Given the description of an element on the screen output the (x, y) to click on. 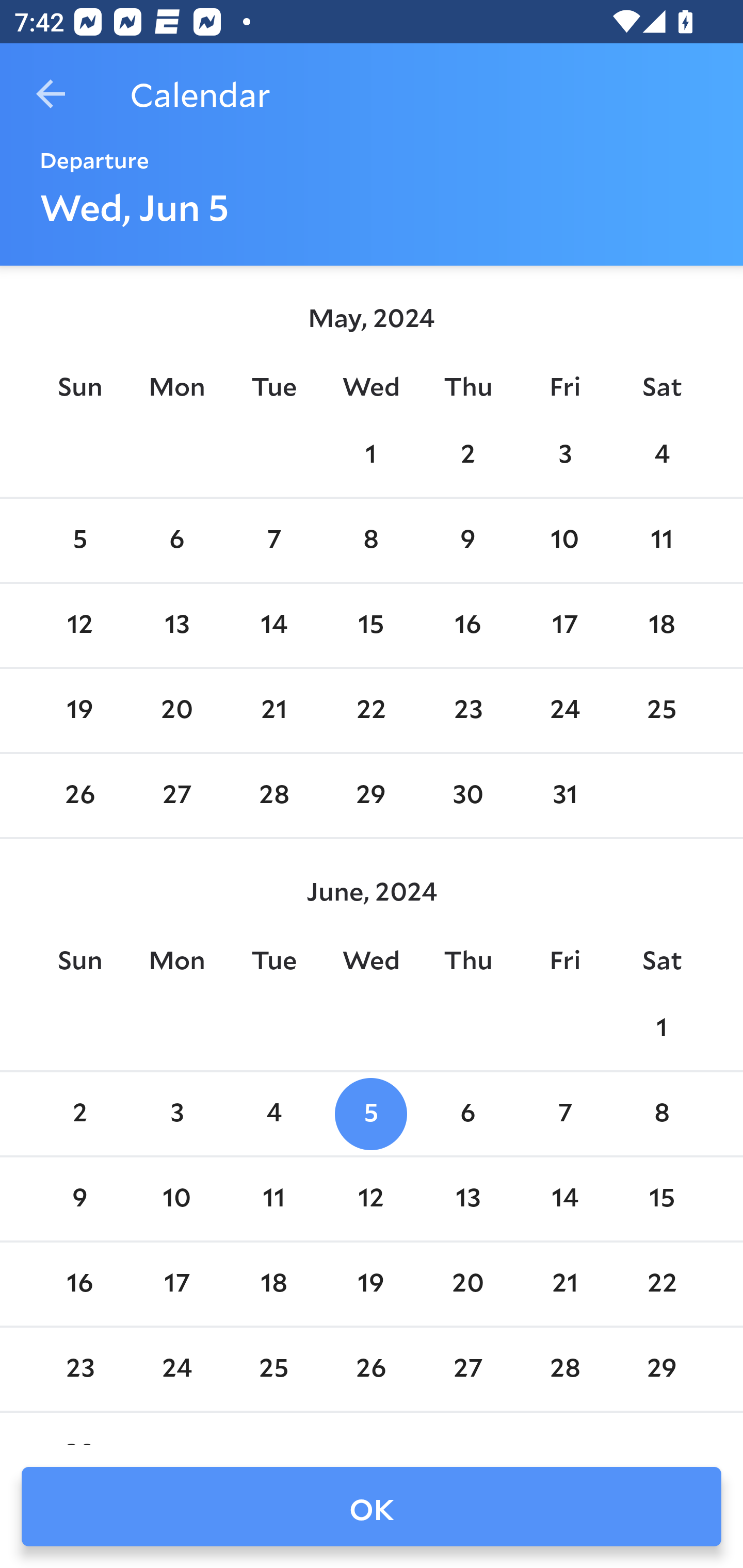
Navigate up (50, 93)
1 (371, 454)
2 (467, 454)
3 (565, 454)
4 (661, 454)
5 (79, 540)
6 (177, 540)
7 (273, 540)
8 (371, 540)
9 (467, 540)
10 (565, 540)
11 (661, 540)
12 (79, 625)
13 (177, 625)
14 (273, 625)
15 (371, 625)
16 (467, 625)
17 (565, 625)
18 (661, 625)
19 (79, 710)
20 (177, 710)
21 (273, 710)
22 (371, 710)
23 (467, 710)
24 (565, 710)
25 (661, 710)
26 (79, 796)
27 (177, 796)
28 (273, 796)
29 (371, 796)
30 (467, 796)
31 (565, 796)
1 (661, 1028)
2 (79, 1114)
3 (177, 1114)
4 (273, 1114)
5 (371, 1114)
6 (467, 1114)
7 (565, 1114)
8 (661, 1114)
9 (79, 1199)
10 (177, 1199)
11 (273, 1199)
12 (371, 1199)
13 (467, 1199)
14 (565, 1199)
15 (661, 1199)
16 (79, 1284)
17 (177, 1284)
18 (273, 1284)
